Given the description of an element on the screen output the (x, y) to click on. 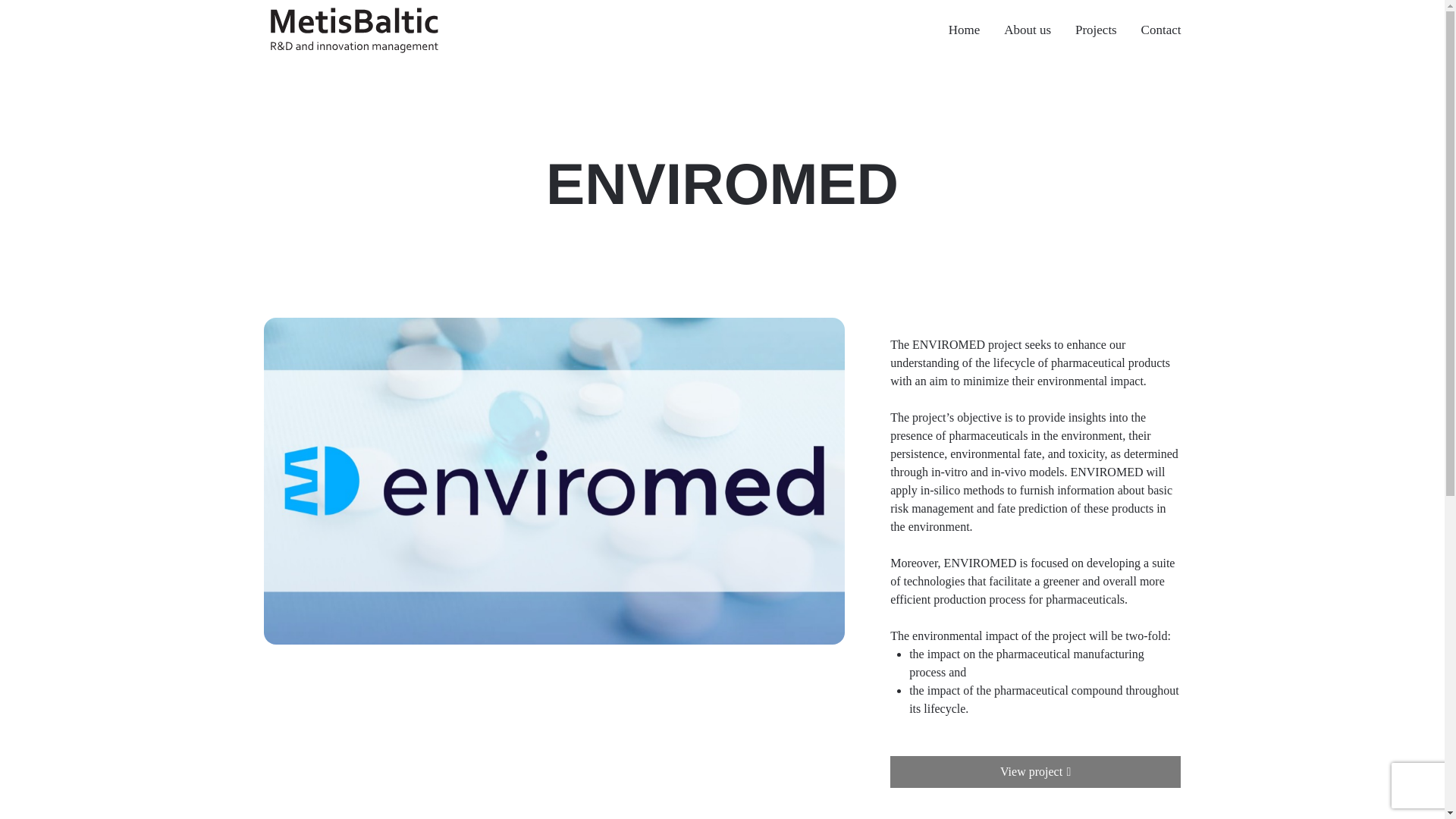
Contact (1154, 30)
About us (1026, 30)
View project (1034, 771)
Home (963, 30)
Projects (1095, 30)
